Given the description of an element on the screen output the (x, y) to click on. 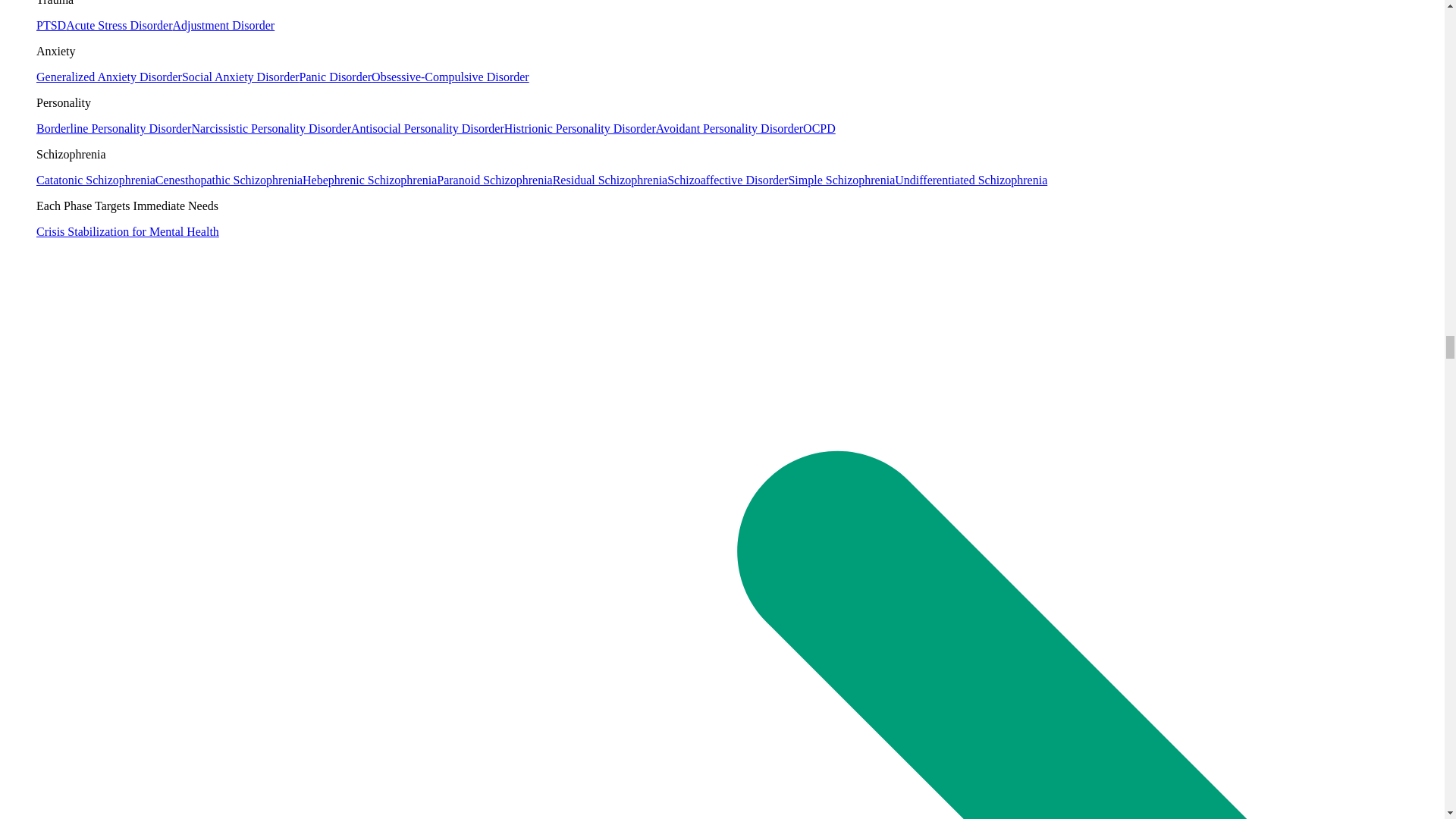
Adjustment Disorder (224, 24)
Obsessive-Compulsive Disorder (450, 76)
Acute Stress Disorder (118, 24)
PTSD (50, 24)
Panic Disorder (335, 76)
Generalized Anxiety Disorder (109, 76)
Social Anxiety Disorder (240, 76)
